Given the description of an element on the screen output the (x, y) to click on. 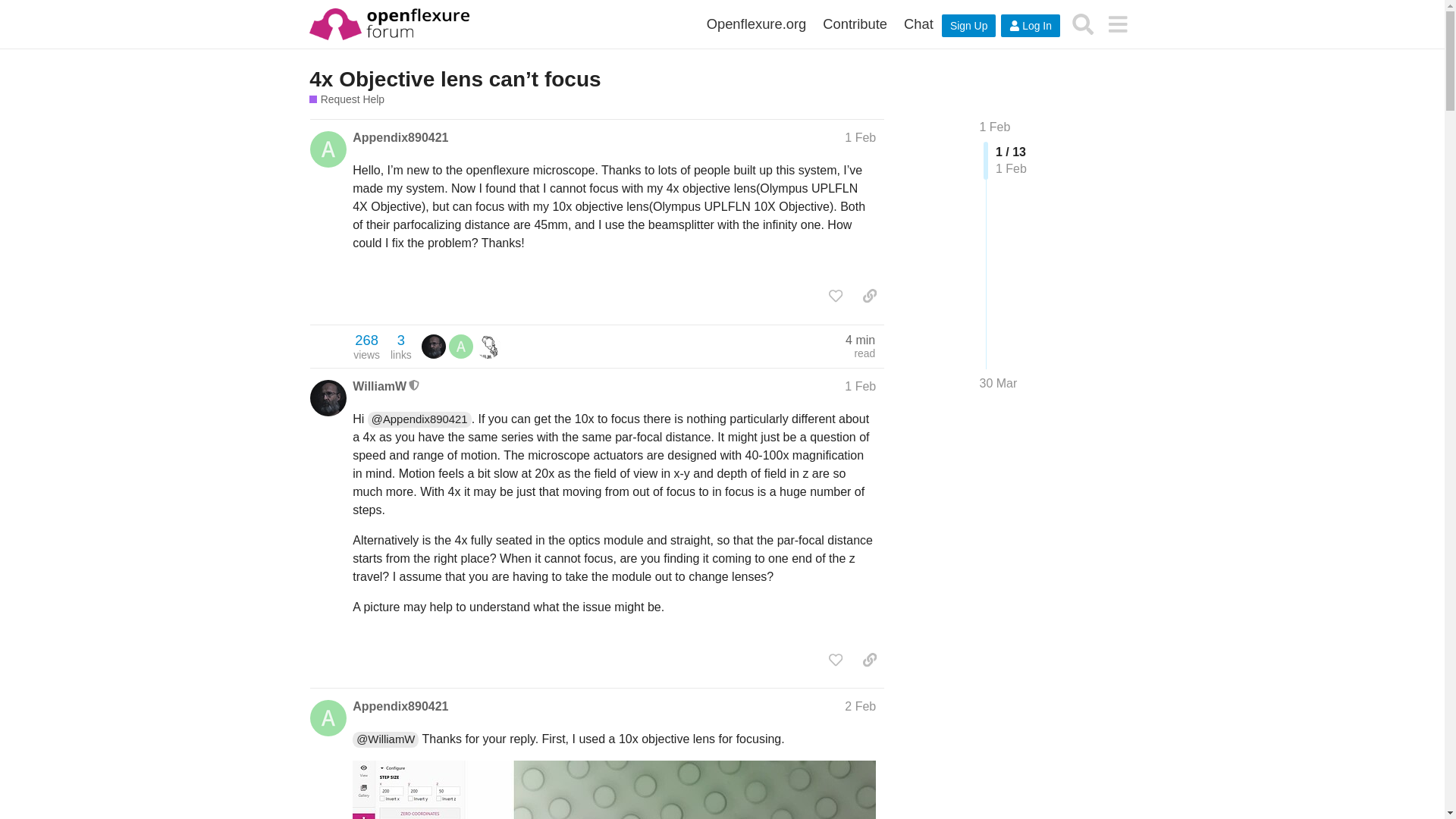
Search (1082, 23)
Openflexure.org (756, 23)
Contribute on GitLab (854, 23)
1 Feb (994, 126)
WilliamW (379, 385)
Request Help (346, 99)
menu (1117, 23)
Sign Up (968, 25)
1 Feb (860, 385)
Appendix890421 (400, 706)
Contribute (854, 23)
Jump to the last post (998, 382)
30 Mar (998, 383)
Jump to the first post (994, 126)
